Given the description of an element on the screen output the (x, y) to click on. 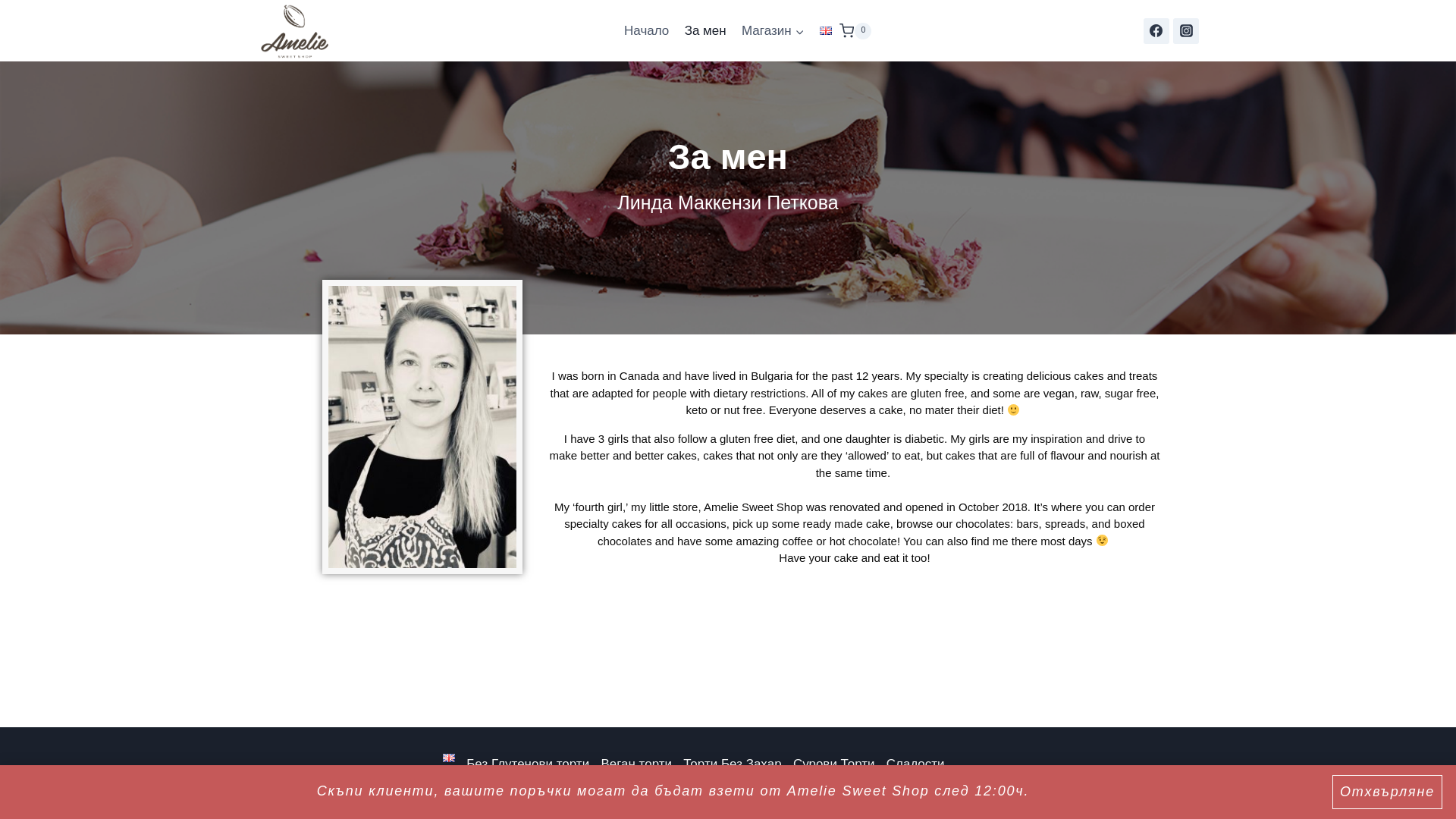
0 (855, 30)
